Given the description of an element on the screen output the (x, y) to click on. 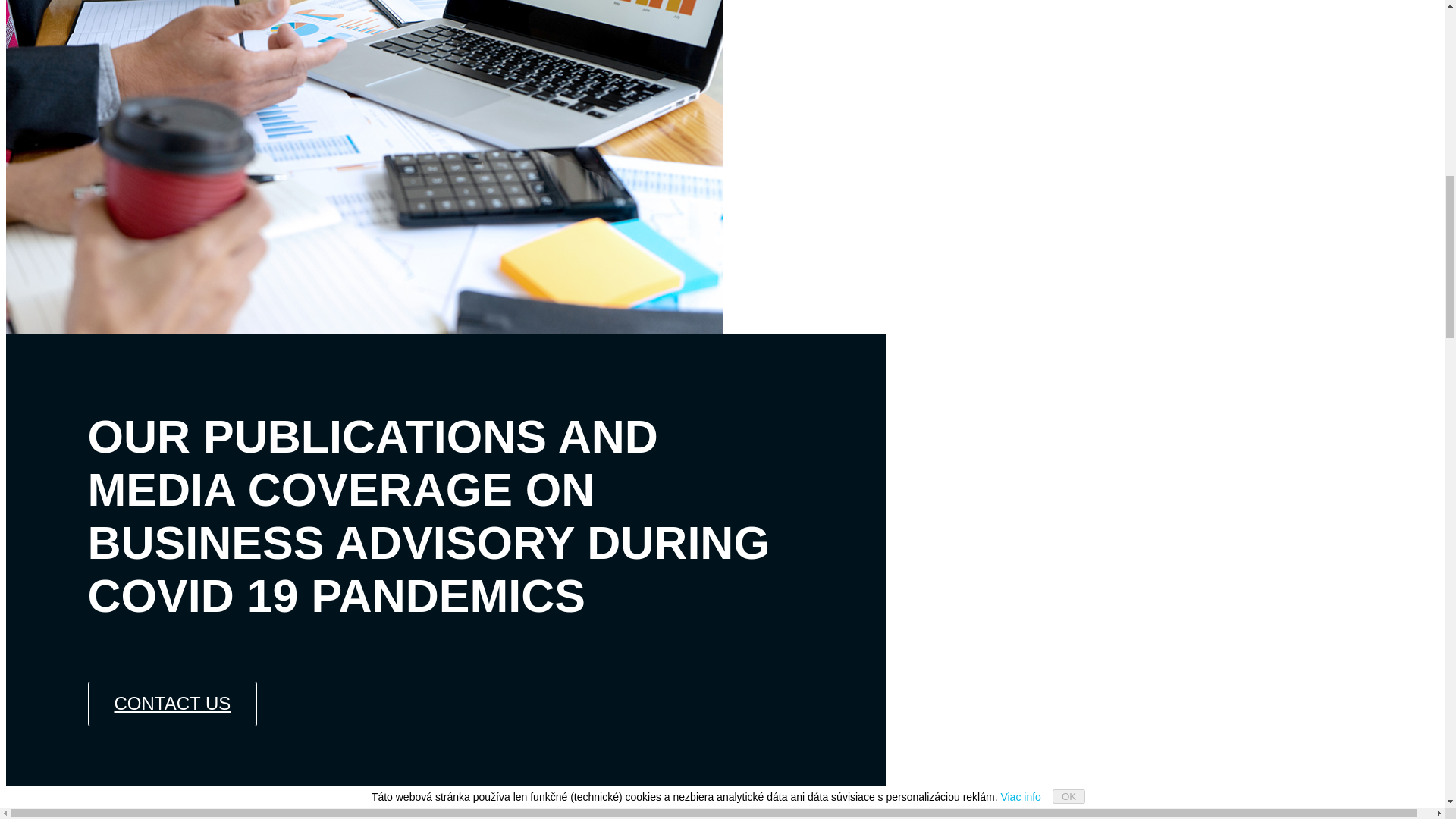
CONTACT US (172, 703)
